Given the description of an element on the screen output the (x, y) to click on. 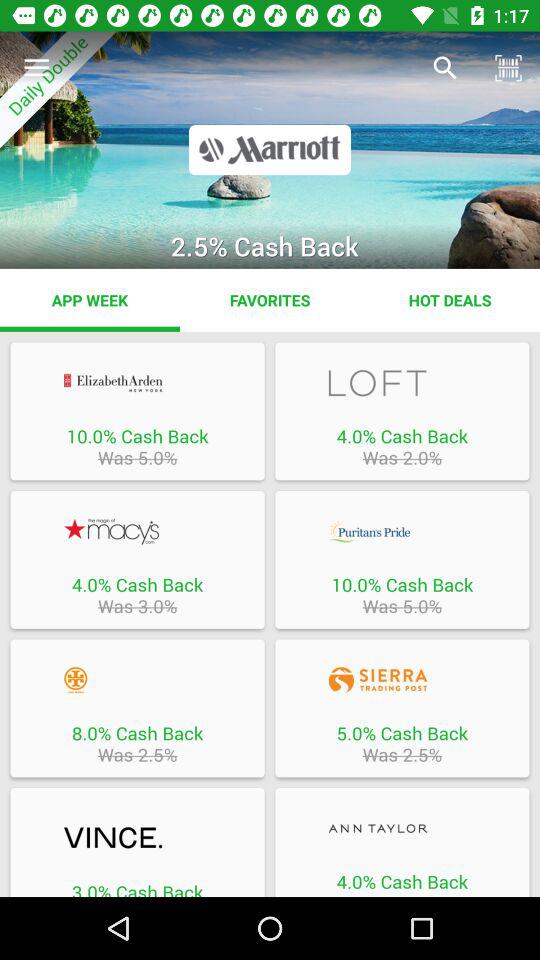
go to website (137, 382)
